Given the description of an element on the screen output the (x, y) to click on. 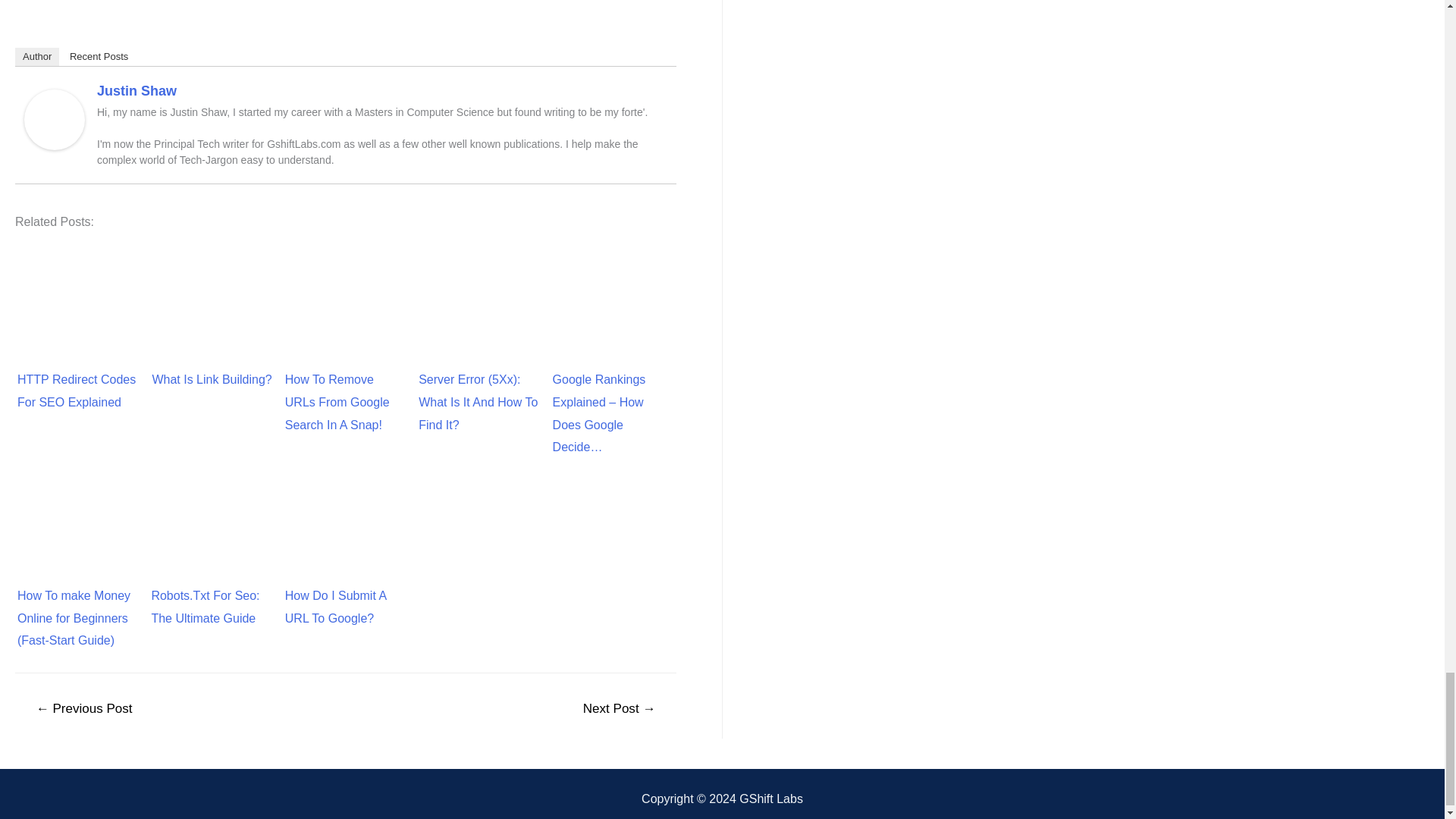
HTTP Redirect Codes For SEO Explained (78, 292)
Robots.Txt For Seo: The Ultimate Guide (212, 508)
How Do I Submit A URL To Google? (345, 508)
Justin Shaw (54, 118)
How To Remove URLs From Google Search In A Snap! (345, 292)
What Is Link Building? (212, 292)
